Given the description of an element on the screen output the (x, y) to click on. 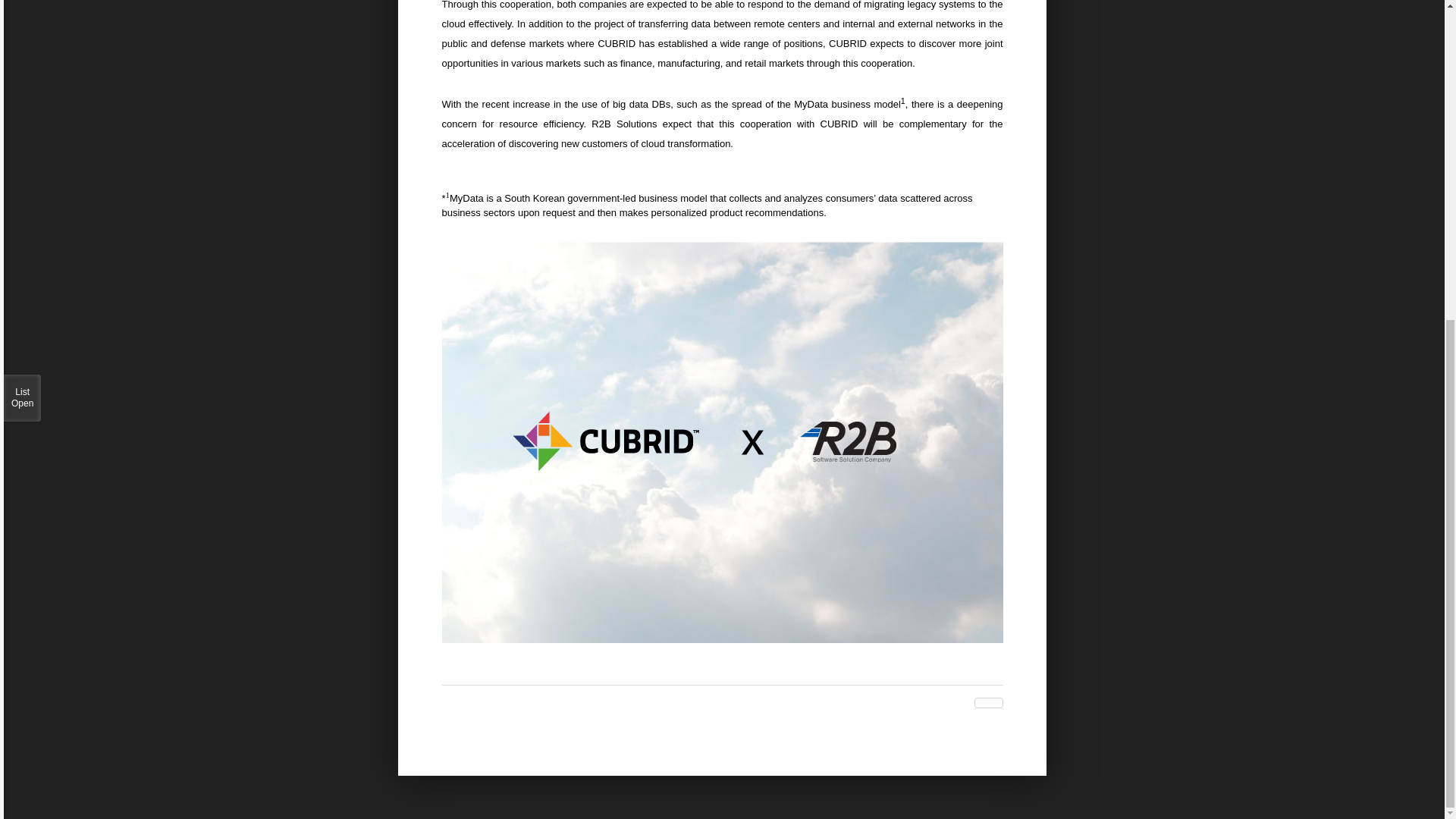
Up (979, 702)
Print (997, 702)
